Given the description of an element on the screen output the (x, y) to click on. 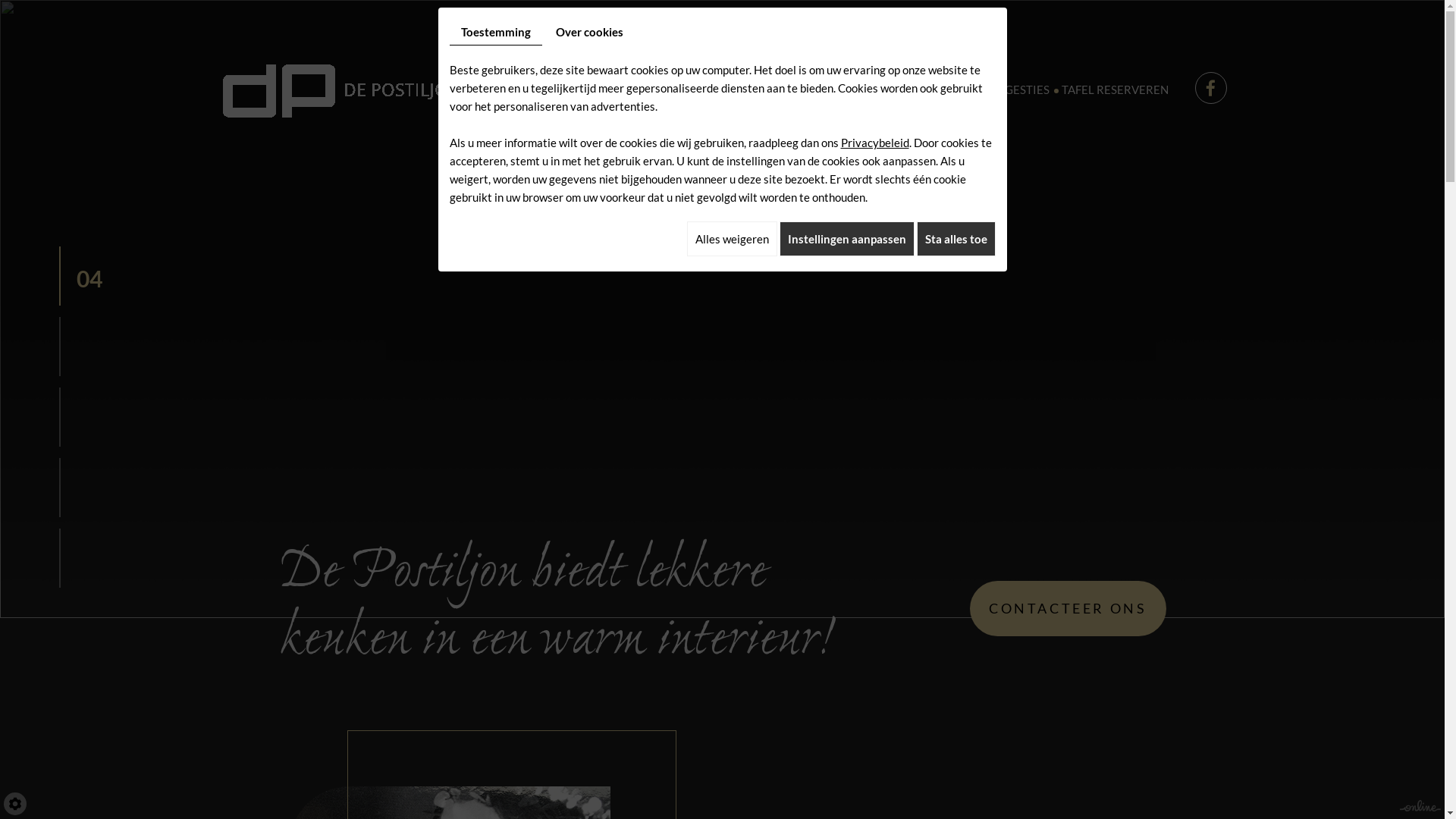
Privacybeleid Element type: text (874, 142)
HOME Element type: text (535, 89)
TAFEL RESERVEREN Element type: text (1114, 89)
Sta alles toe Element type: text (955, 238)
CONTACTEER ONS Element type: text (1067, 608)
Alles weigeren Element type: text (732, 238)
Cookie-instelling bewerken Element type: text (14, 803)
KAART Element type: text (737, 89)
BRASSERIE - RESTAURANT Element type: text (635, 89)
Toestemming Element type: text (494, 31)
Brasserie-Restaurant De Postiljon - Restaurant Element type: hover (340, 87)
Over cookies Element type: text (589, 31)
FEESTMENU Element type: text (800, 89)
SUGGESTIES Element type: text (1014, 89)
LUNCHMENU Element type: text (932, 89)
Instellingen aanpassen Element type: text (846, 238)
